Given the description of an element on the screen output the (x, y) to click on. 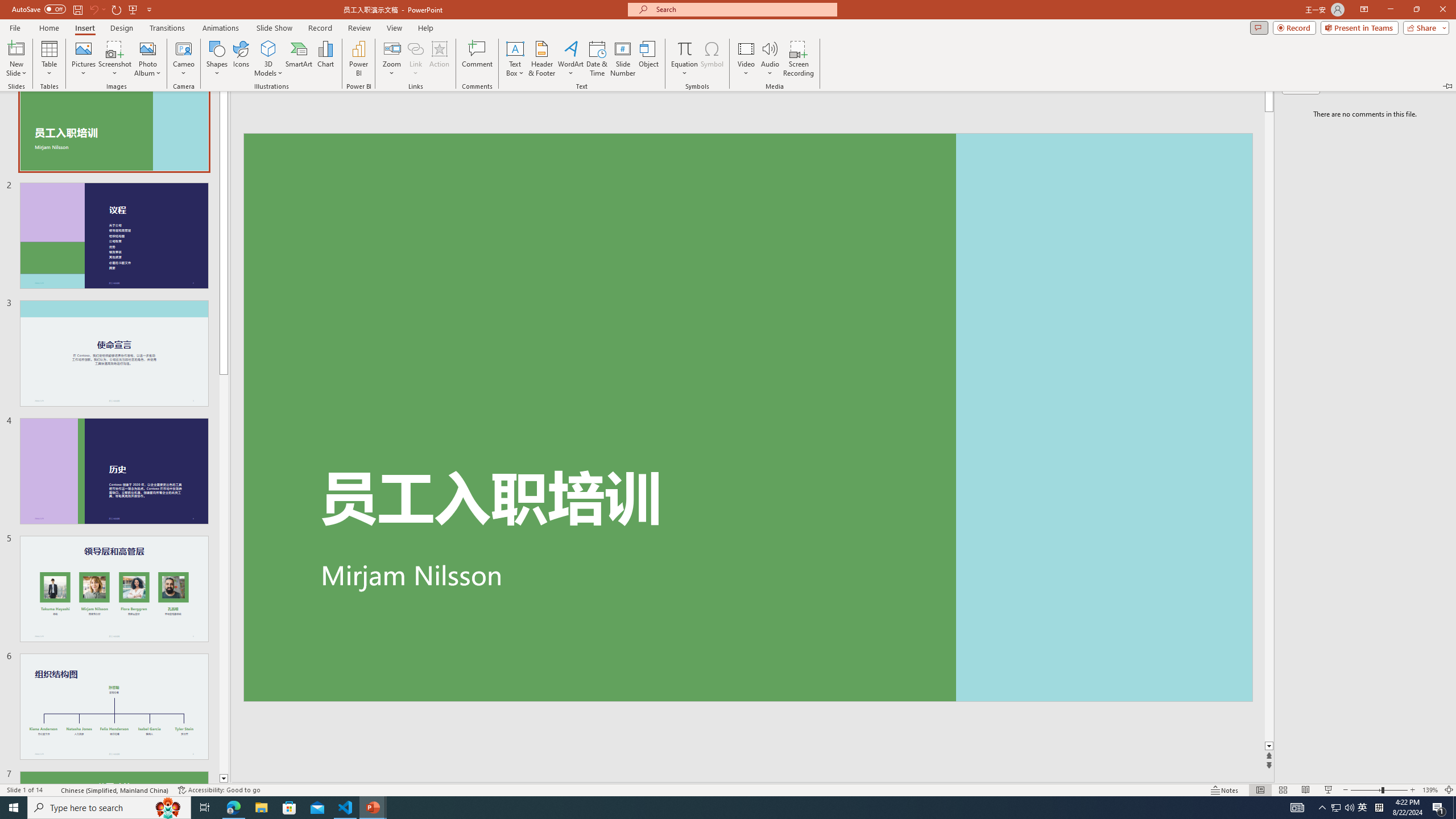
Class: MsoCommandBar (728, 773)
Copy (63, 91)
Center (429, 102)
Undo Italic (165, 18)
Replace... (1078, 91)
Shading RGB(0, 0, 0) (558, 102)
Select (1080, 112)
Justify (474, 102)
AutomationID: QuickStylesGallery (841, 91)
